Given the description of an element on the screen output the (x, y) to click on. 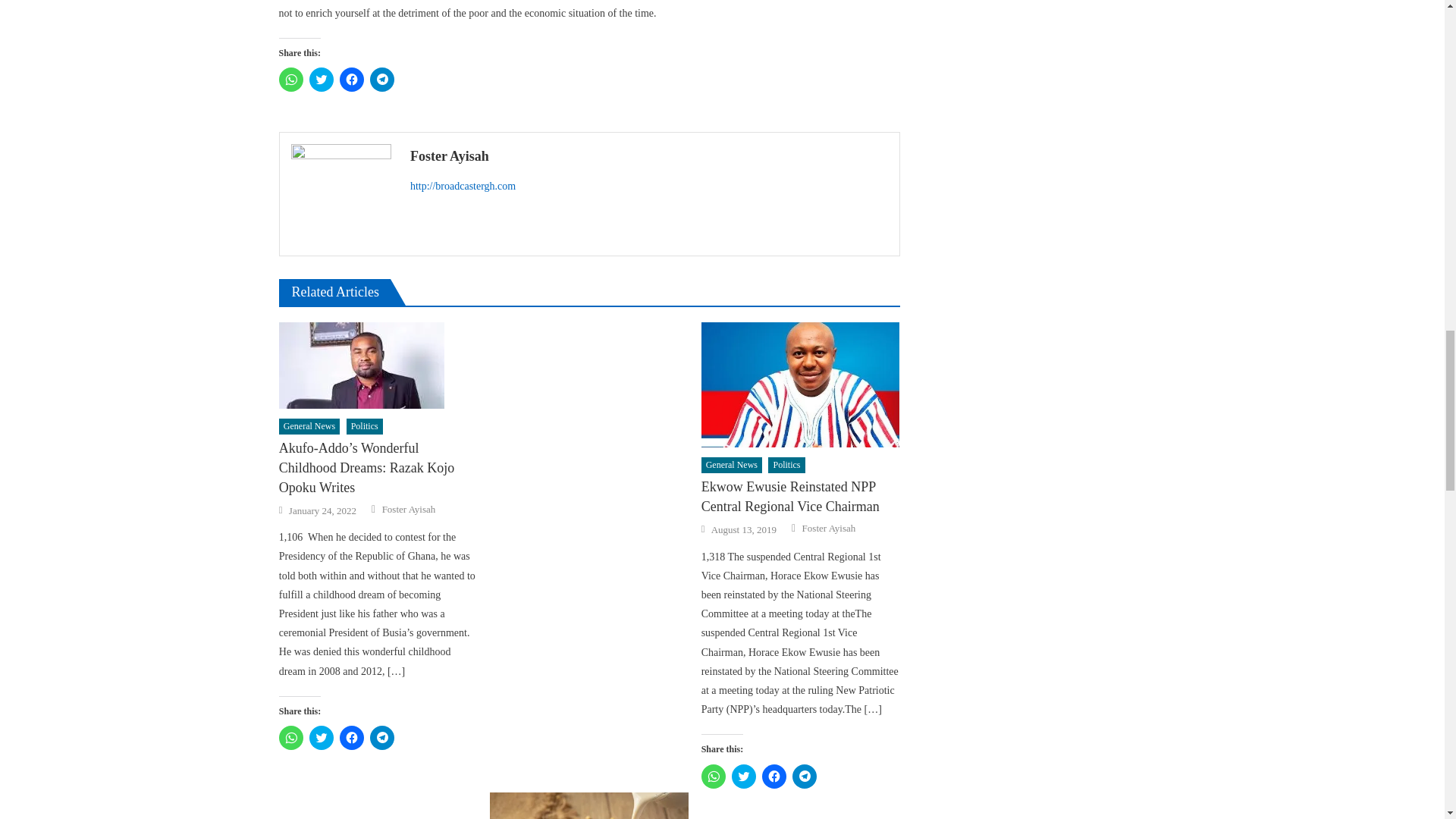
Click to share on Twitter (320, 737)
Click to share on Telegram (381, 79)
Politics (364, 426)
Click to share on Twitter (320, 79)
General News (309, 426)
Click to share on Telegram (381, 737)
Check Out Some Foods To Make Sperms Cells Healthy (588, 805)
Click to share on WhatsApp (290, 737)
Foster Ayisah (408, 509)
Click to share on Facebook (351, 737)
January 24, 2022 (322, 510)
Click to share on WhatsApp (290, 79)
Click to share on Facebook (351, 79)
Advertisement (588, 557)
Foster Ayisah (649, 156)
